Given the description of an element on the screen output the (x, y) to click on. 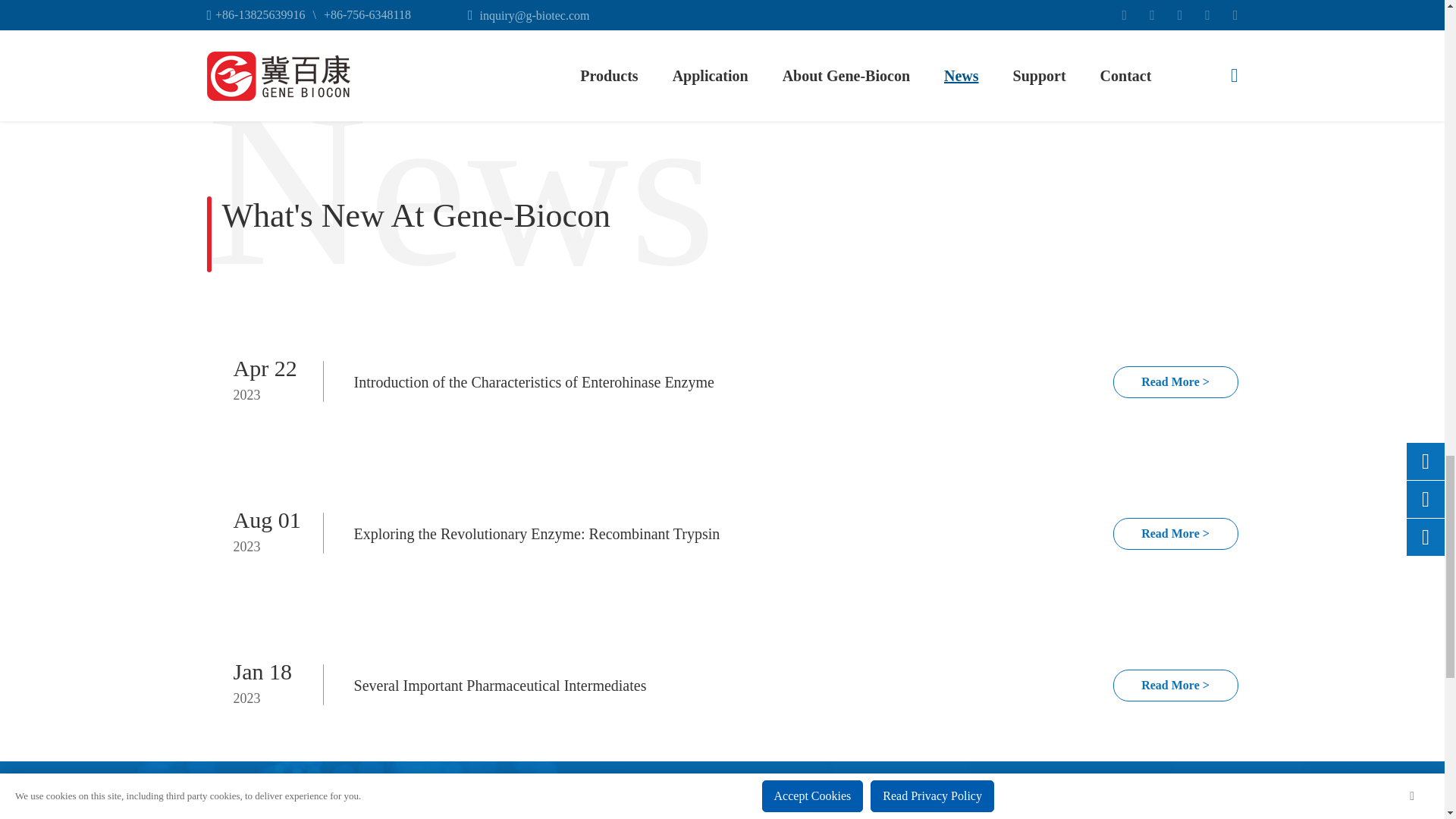
GLP-1 Products (1118, 20)
3-O-Ethyl-L-ascorbic Acid (854, 20)
Supanflamin (590, 20)
Yeast Extract Essence YE500 (326, 20)
